Given the description of an element on the screen output the (x, y) to click on. 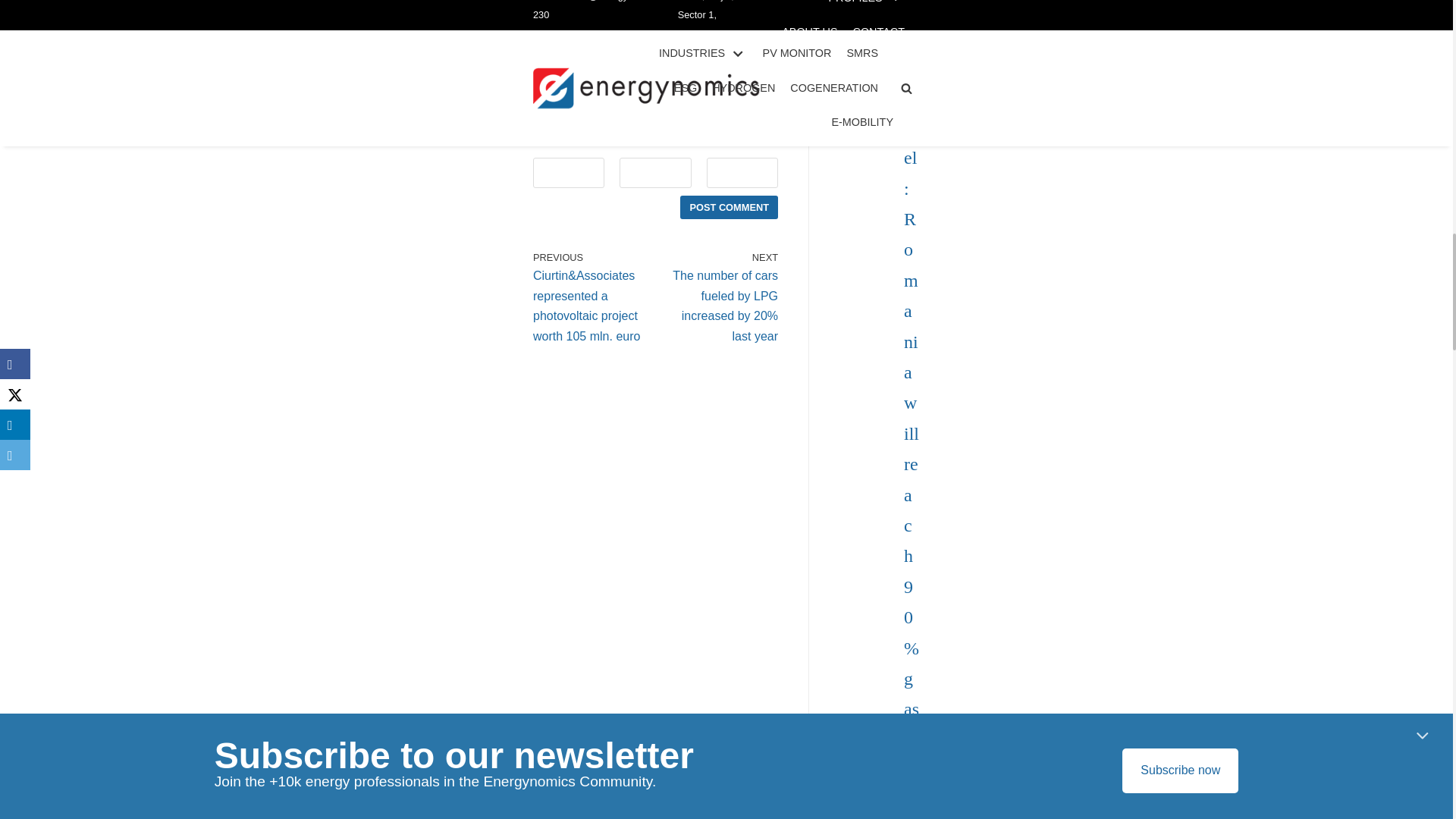
Post Comment (728, 207)
